Given the description of an element on the screen output the (x, y) to click on. 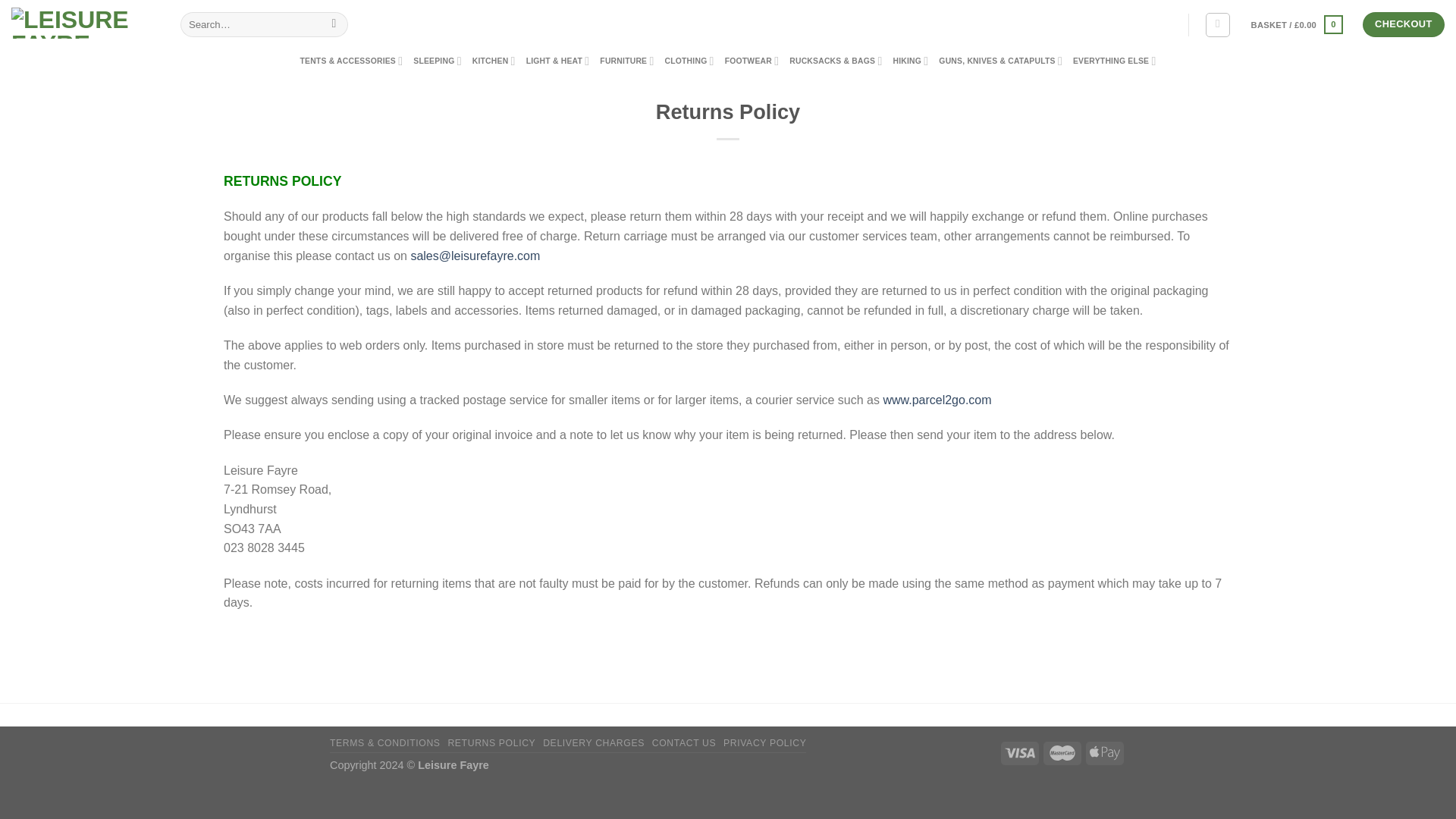
CHECKOUT (1403, 24)
Leisure Fayre - The New Forest Outdoor Store (84, 22)
Search (333, 24)
SLEEPING (437, 60)
Basket (1296, 24)
